Given the description of an element on the screen output the (x, y) to click on. 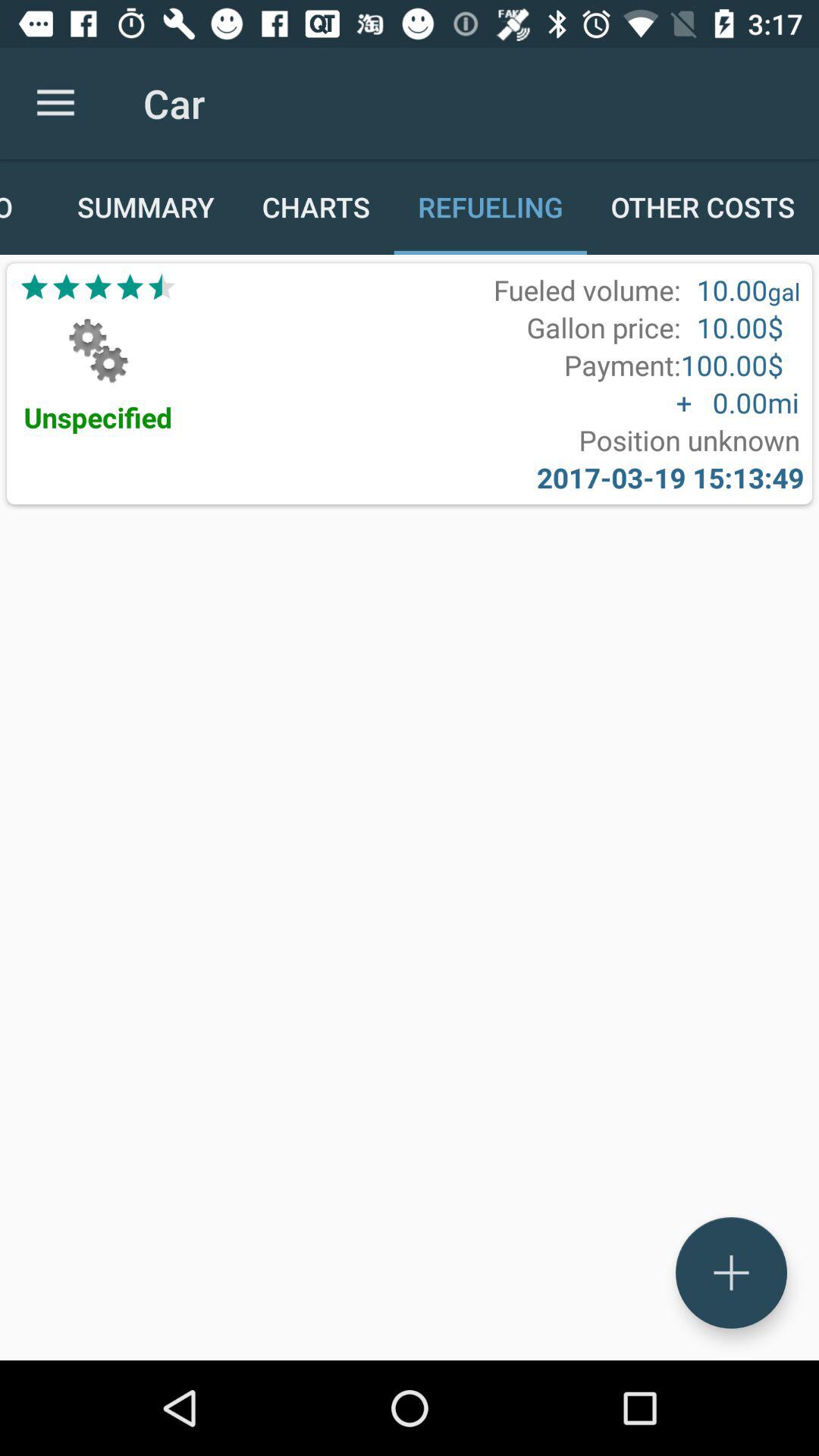
open item to the right of 100.00 (783, 402)
